Given the description of an element on the screen output the (x, y) to click on. 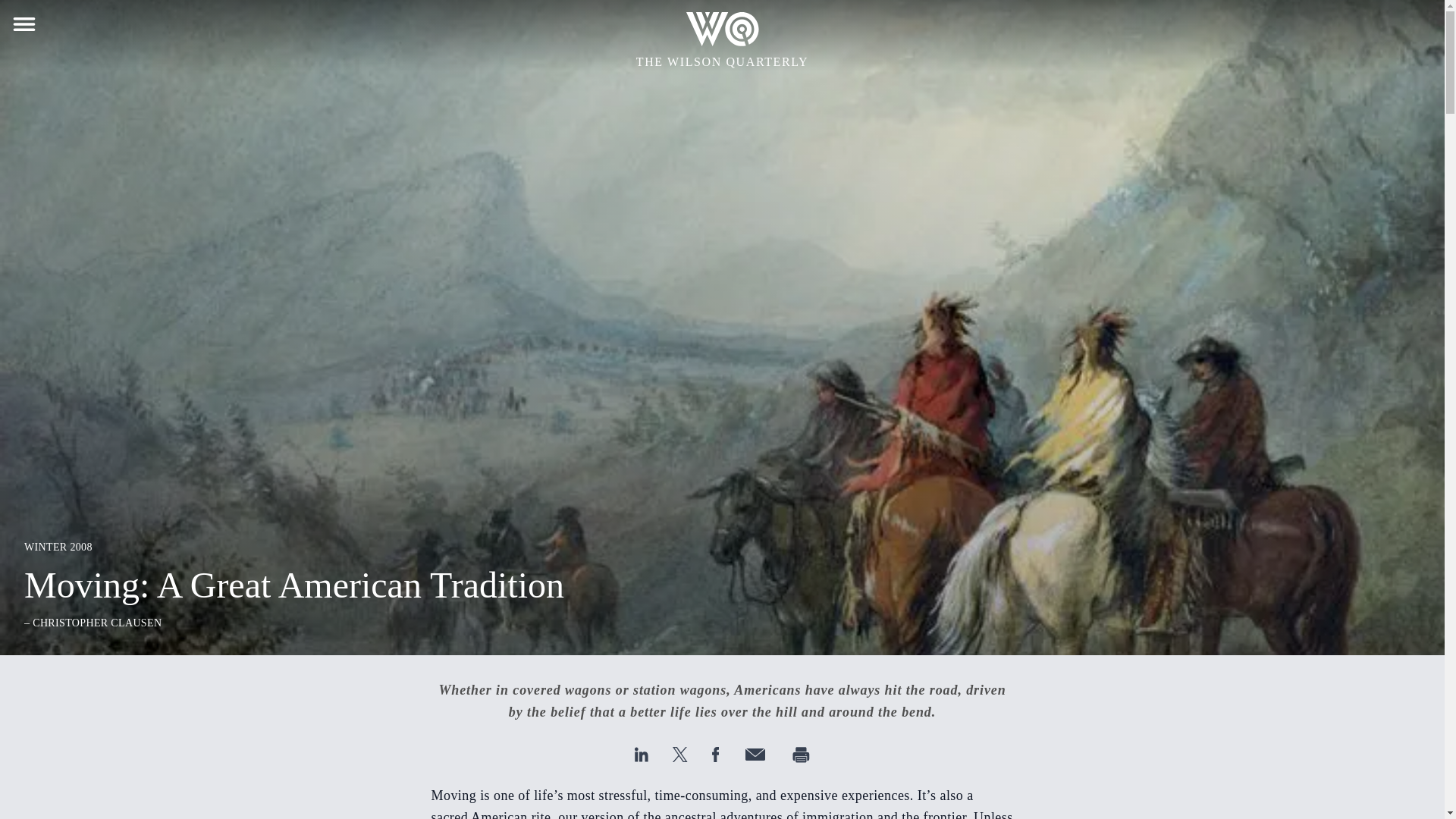
THE WILSON QUARTERLY (722, 41)
